Given the description of an element on the screen output the (x, y) to click on. 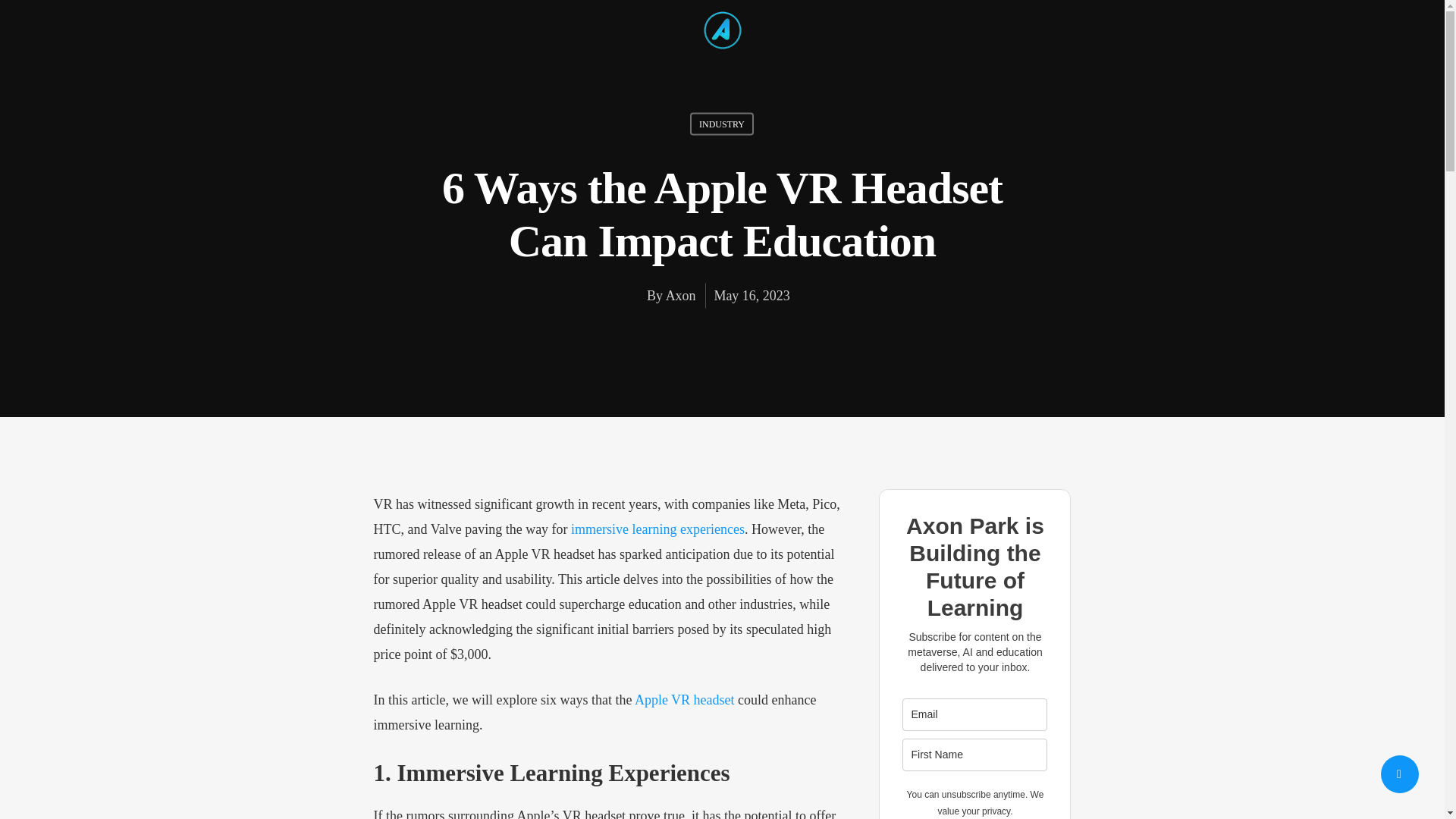
Posts by Axon (680, 295)
INDUSTRY (722, 123)
Axon (680, 295)
immersive learning experiences (657, 529)
Apple VR headset (684, 699)
